Given the description of an element on the screen output the (x, y) to click on. 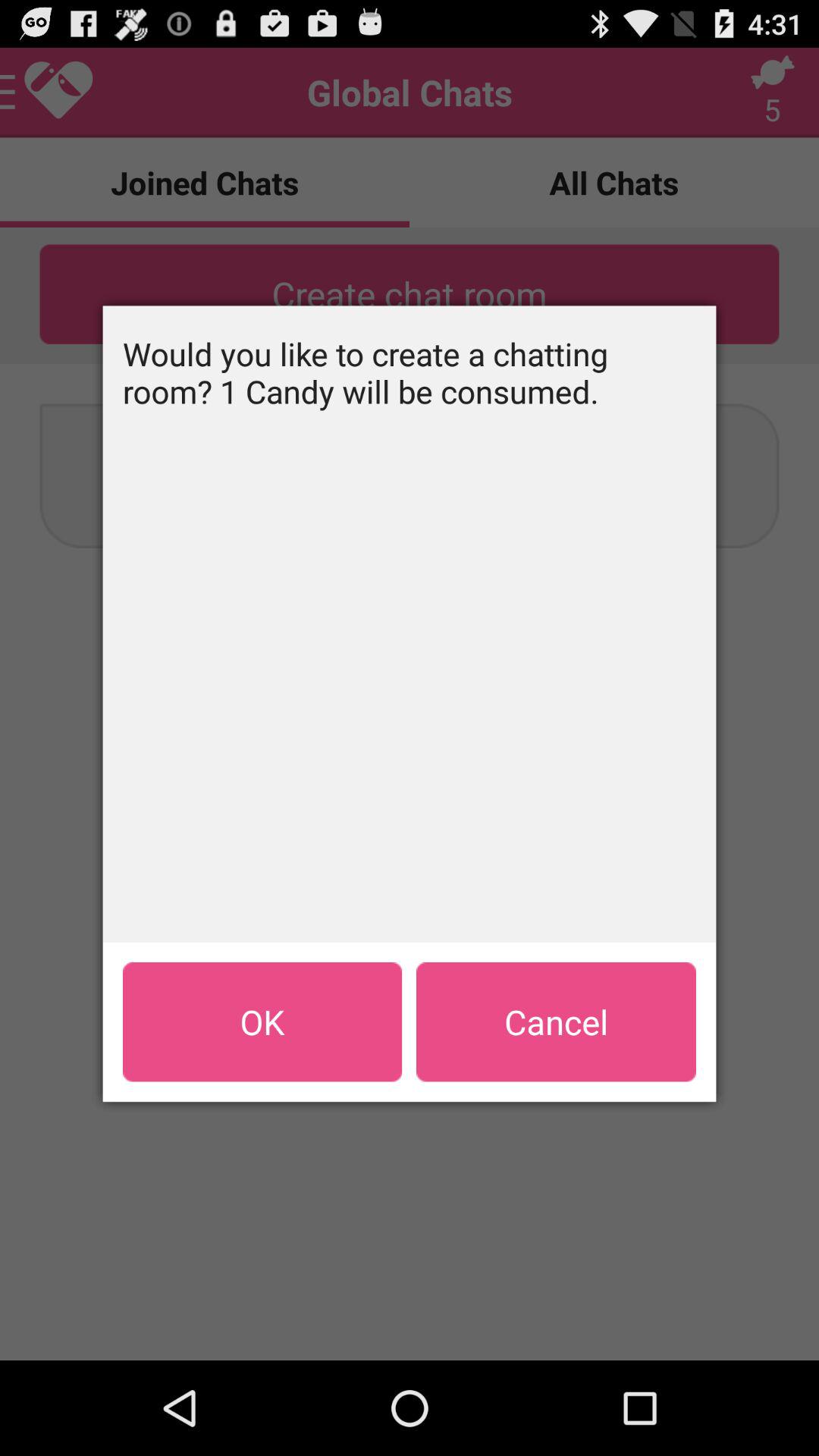
tap item at the bottom left corner (262, 1021)
